Given the description of an element on the screen output the (x, y) to click on. 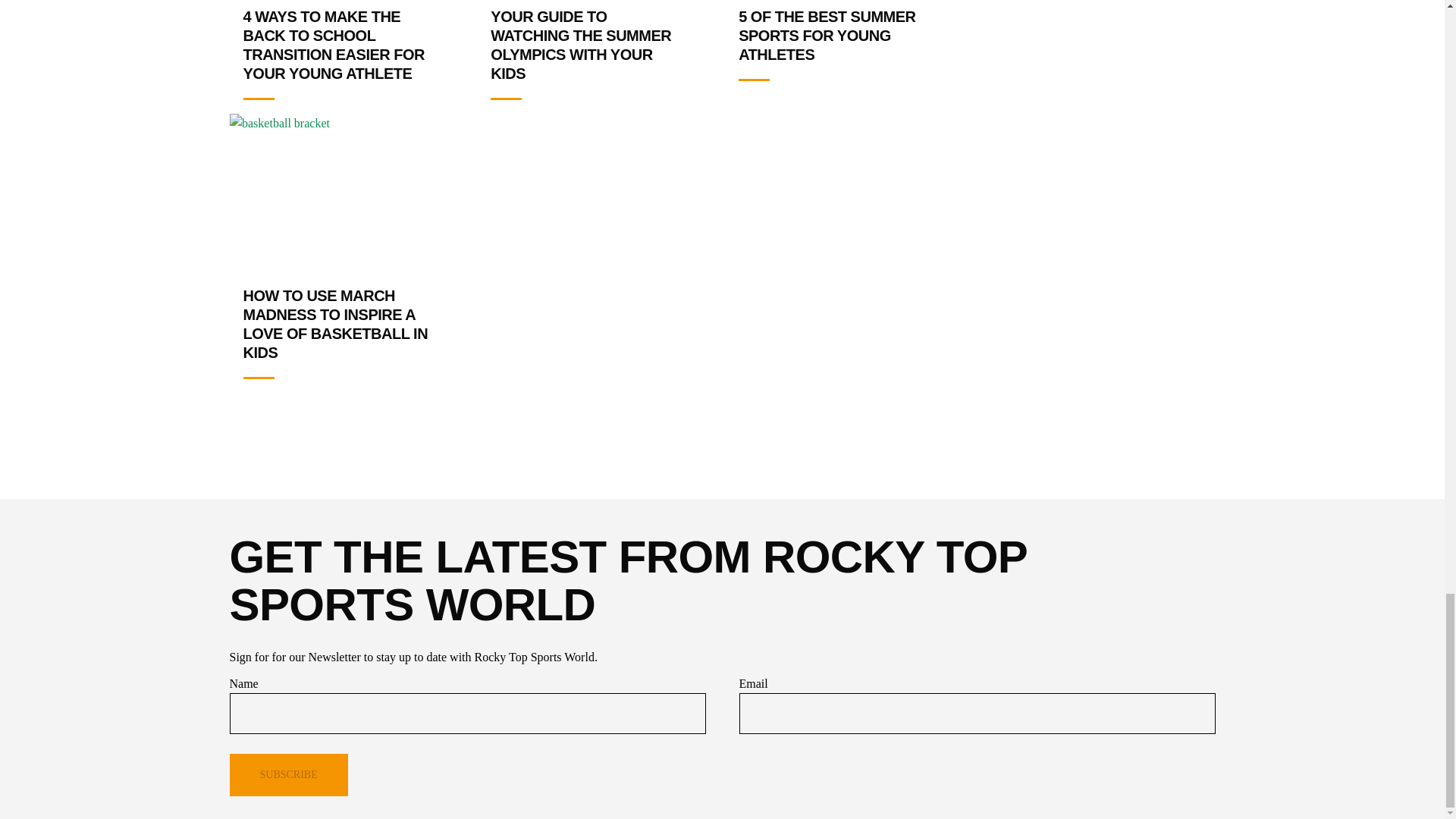
5 of the Best Summer Sports For Young Athletes (826, 35)
Your Guide to Watching the Summer Olympics with Your Kids (580, 44)
